Given the description of an element on the screen output the (x, y) to click on. 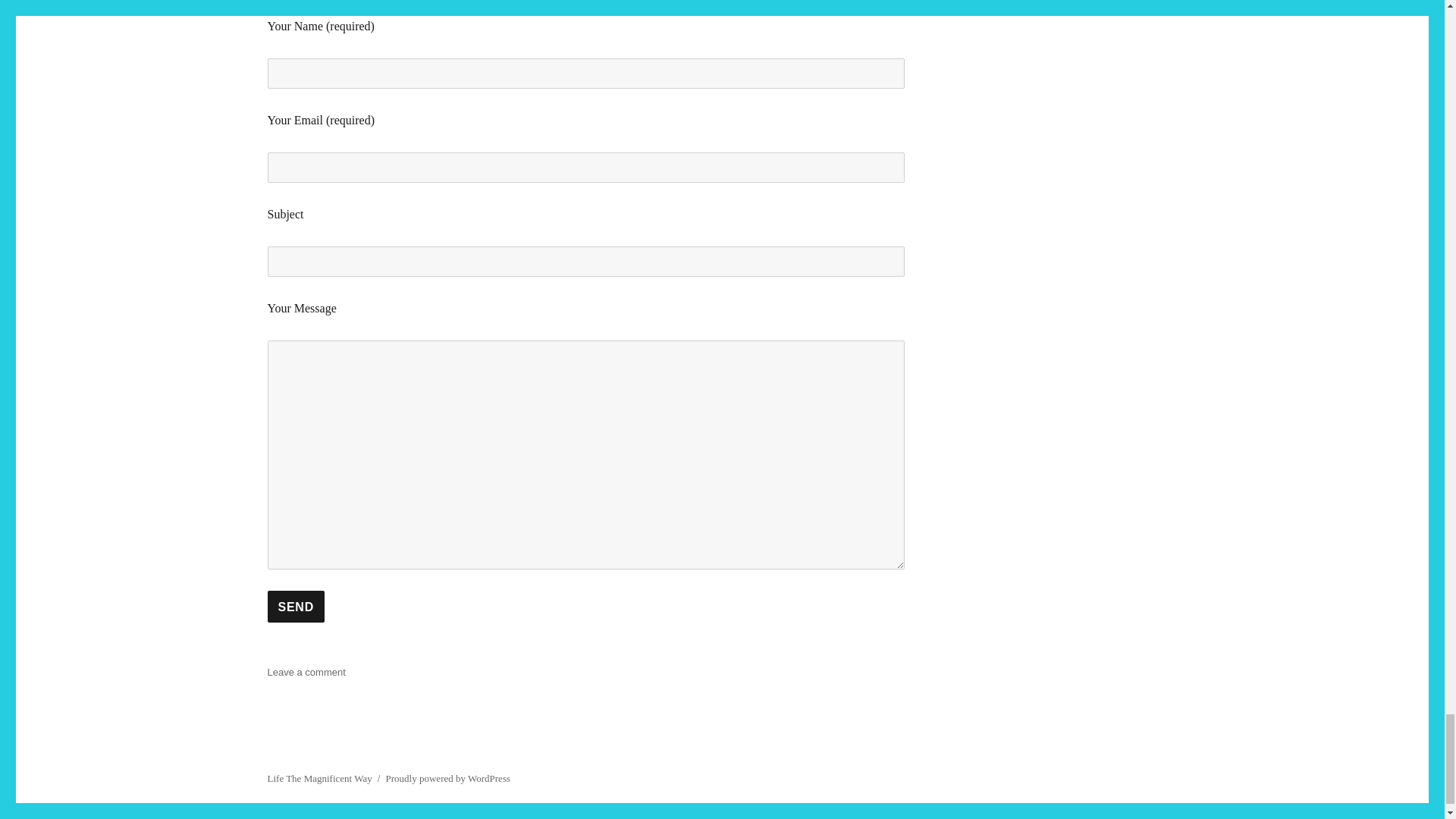
Send (294, 606)
